Given the description of an element on the screen output the (x, y) to click on. 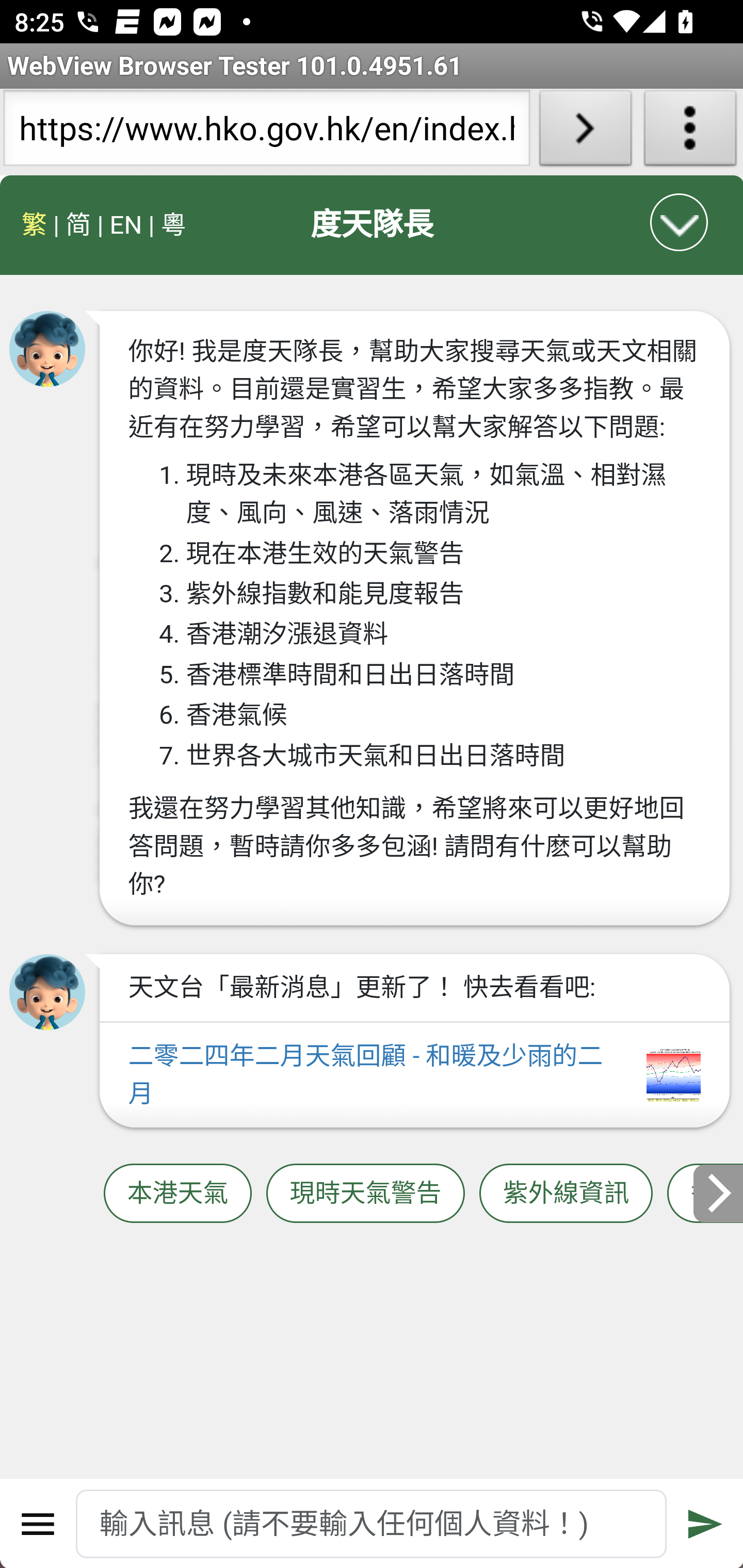
https://www.hko.gov.hk/en/index.html (266, 132)
Load URL (585, 132)
About WebView (690, 132)
Close (679, 221)
繁 (34, 224)
简 (78, 224)
EN (125, 224)
粵 (173, 224)
二零二四年二月天氣回顧 - 和暖及少雨的二月 (414, 1075)
本港天氣 (177, 1192)
現時天氣警告 (365, 1192)
紫外線資訊 (565, 1192)
下一張 (718, 1192)
選單 (38, 1523)
遞交 (704, 1523)
